Given the description of an element on the screen output the (x, y) to click on. 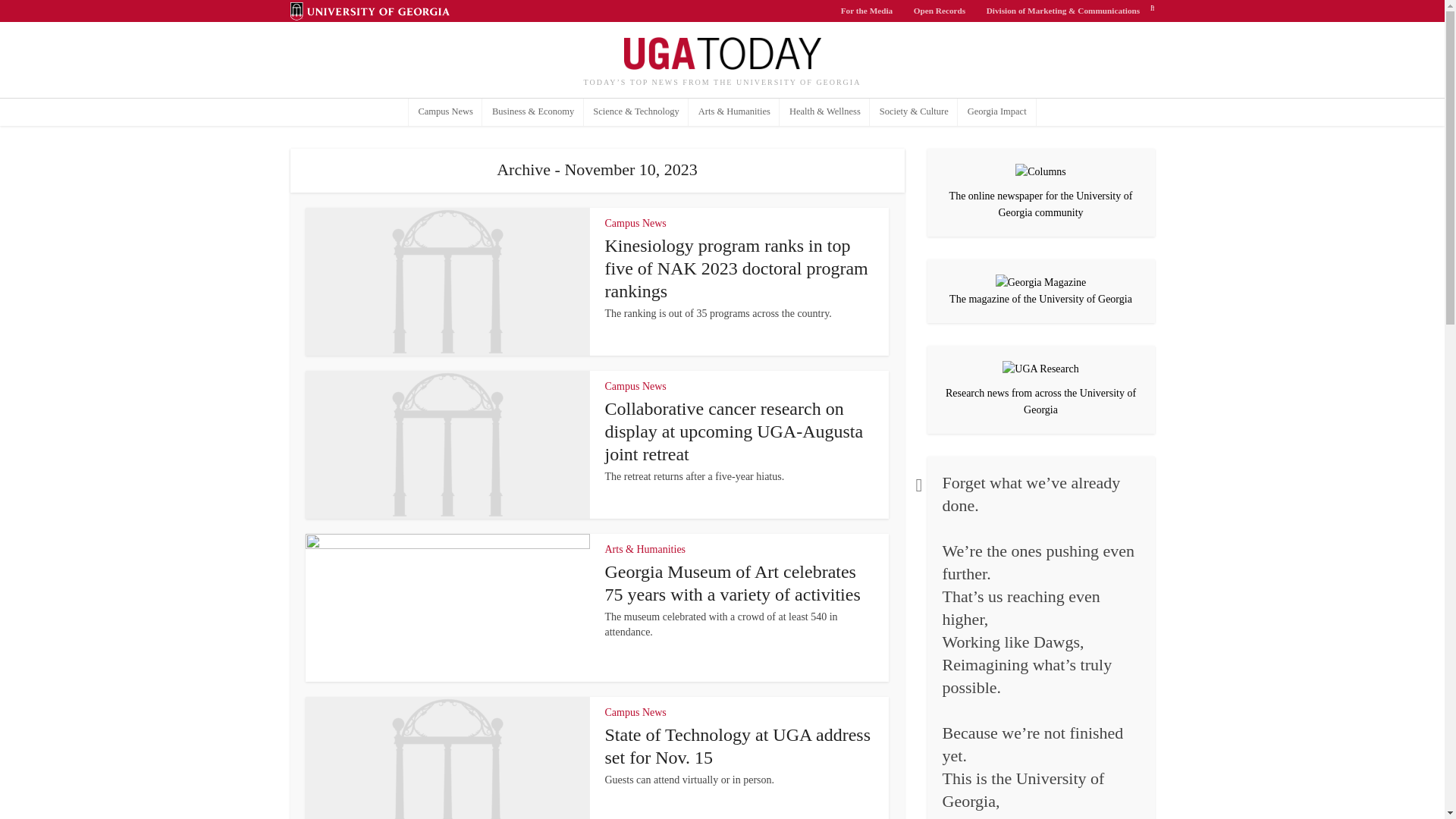
State of Technology at UGA address set for Nov. 15 (737, 745)
Georgia Impact (996, 112)
For the Media (866, 10)
Open Records (939, 10)
Campus News (446, 112)
State of Technology at UGA address set for Nov. 15 (737, 745)
Campus News (635, 223)
Campus News (635, 712)
Campus News (635, 386)
